Given the description of an element on the screen output the (x, y) to click on. 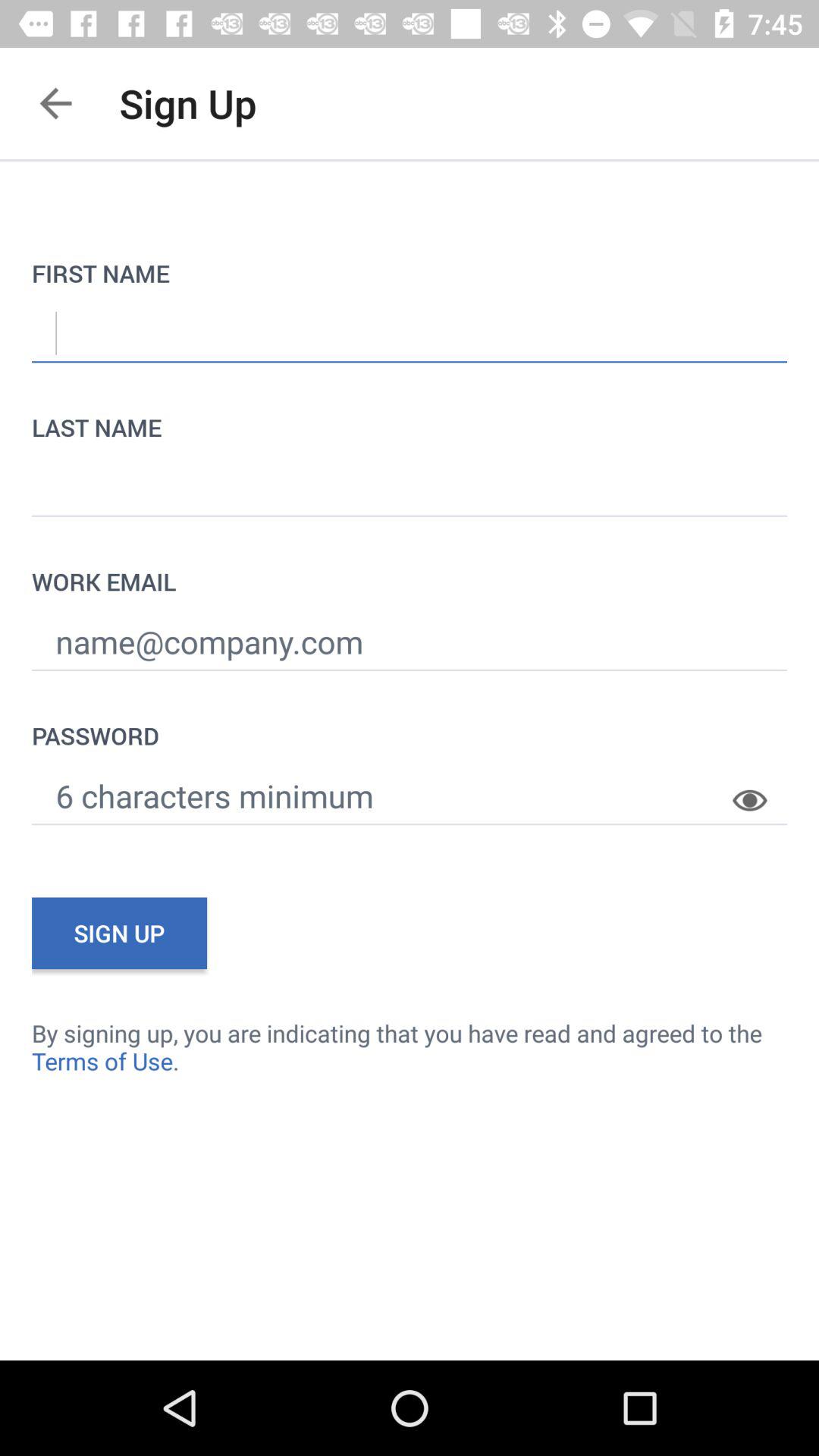
launch the app to the left of the sign up (55, 103)
